Given the description of an element on the screen output the (x, y) to click on. 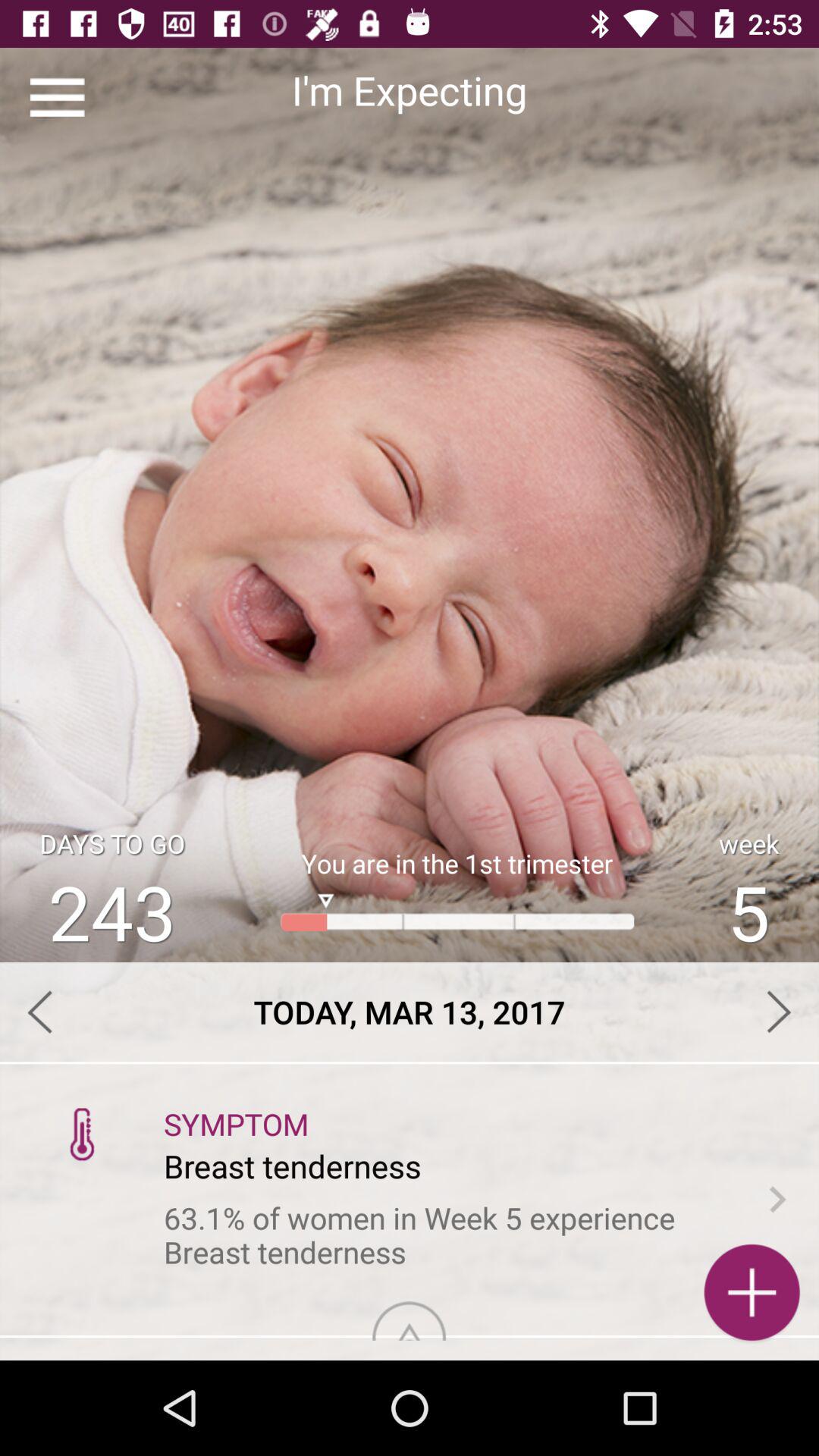
turn on today mar 13 button (409, 1011)
